Given the description of an element on the screen output the (x, y) to click on. 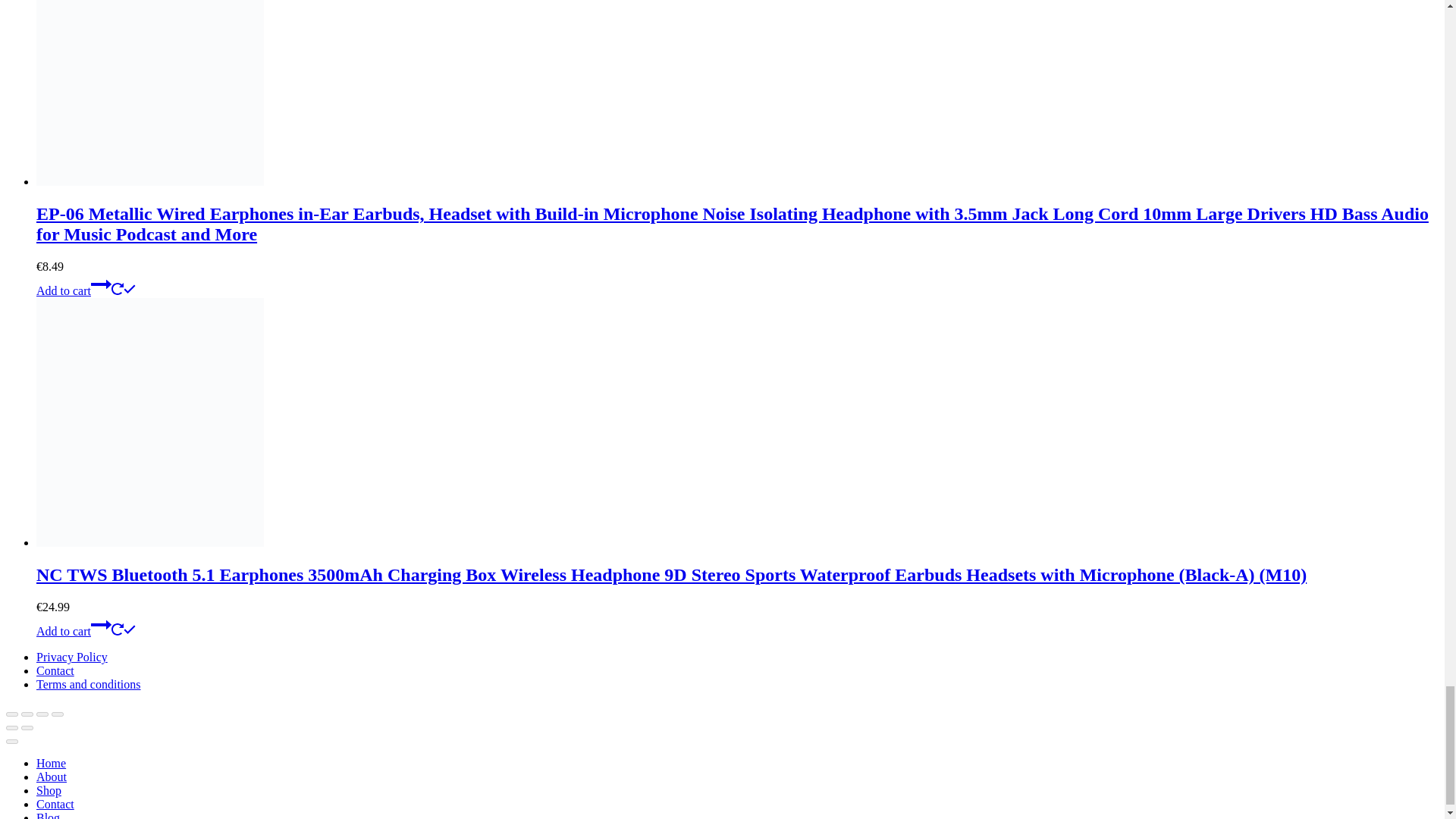
Privacy Policy (71, 656)
Loading (117, 629)
Add to cartContinue Loading Done (85, 631)
Done (129, 288)
Continue (101, 283)
Add to cartContinue Loading Done (85, 290)
Done (129, 629)
Terms and conditions (88, 684)
Contact (55, 670)
